Given the description of an element on the screen output the (x, y) to click on. 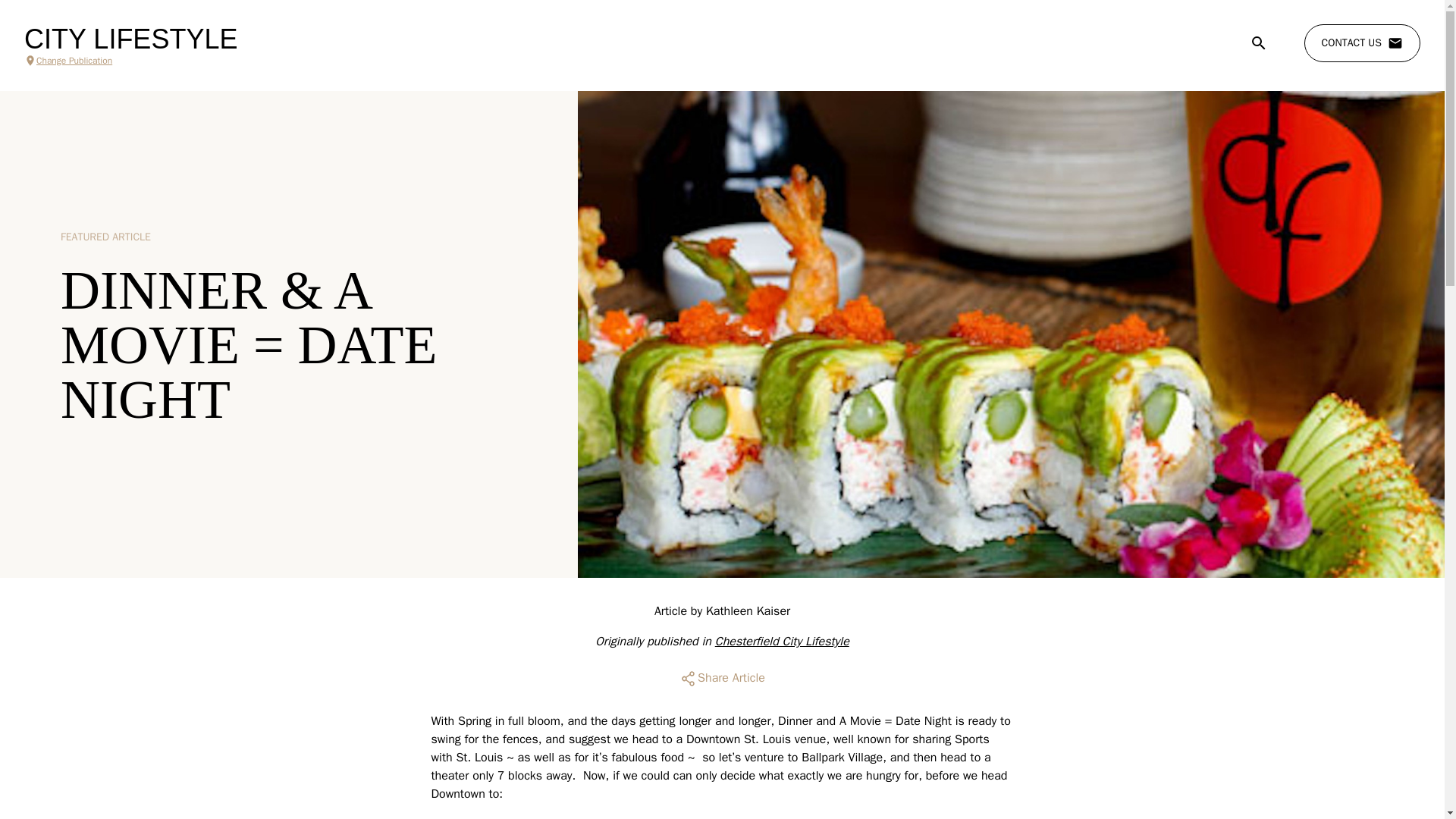
CITY LIFESTYLE (130, 39)
Share Article (722, 678)
Change Publication (130, 60)
Chesterfield City Lifestyle (781, 641)
CONTACT US (1362, 43)
